Given the description of an element on the screen output the (x, y) to click on. 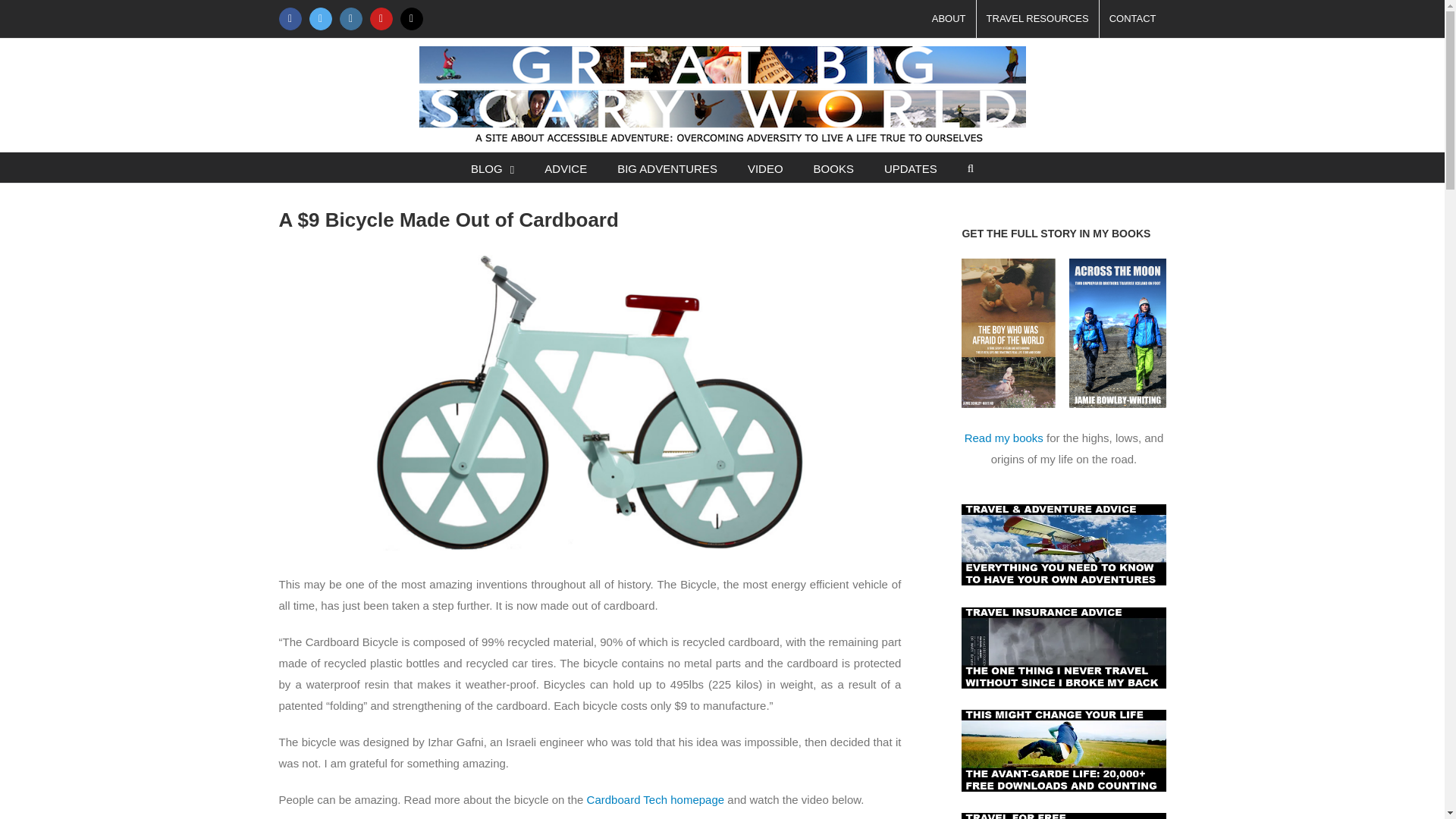
UPDATES (910, 167)
Cardboard Tech homepage (655, 799)
CONTACT (1132, 18)
Facebook (290, 18)
Email (411, 18)
YouTube (381, 18)
Instagram (350, 18)
TRAVEL RESOURCES (1037, 18)
Instagram (350, 18)
YouTube (381, 18)
ABOUT (948, 18)
Facebook (290, 18)
Twitter (319, 18)
BIG ADVENTURES (667, 167)
